Given the description of an element on the screen output the (x, y) to click on. 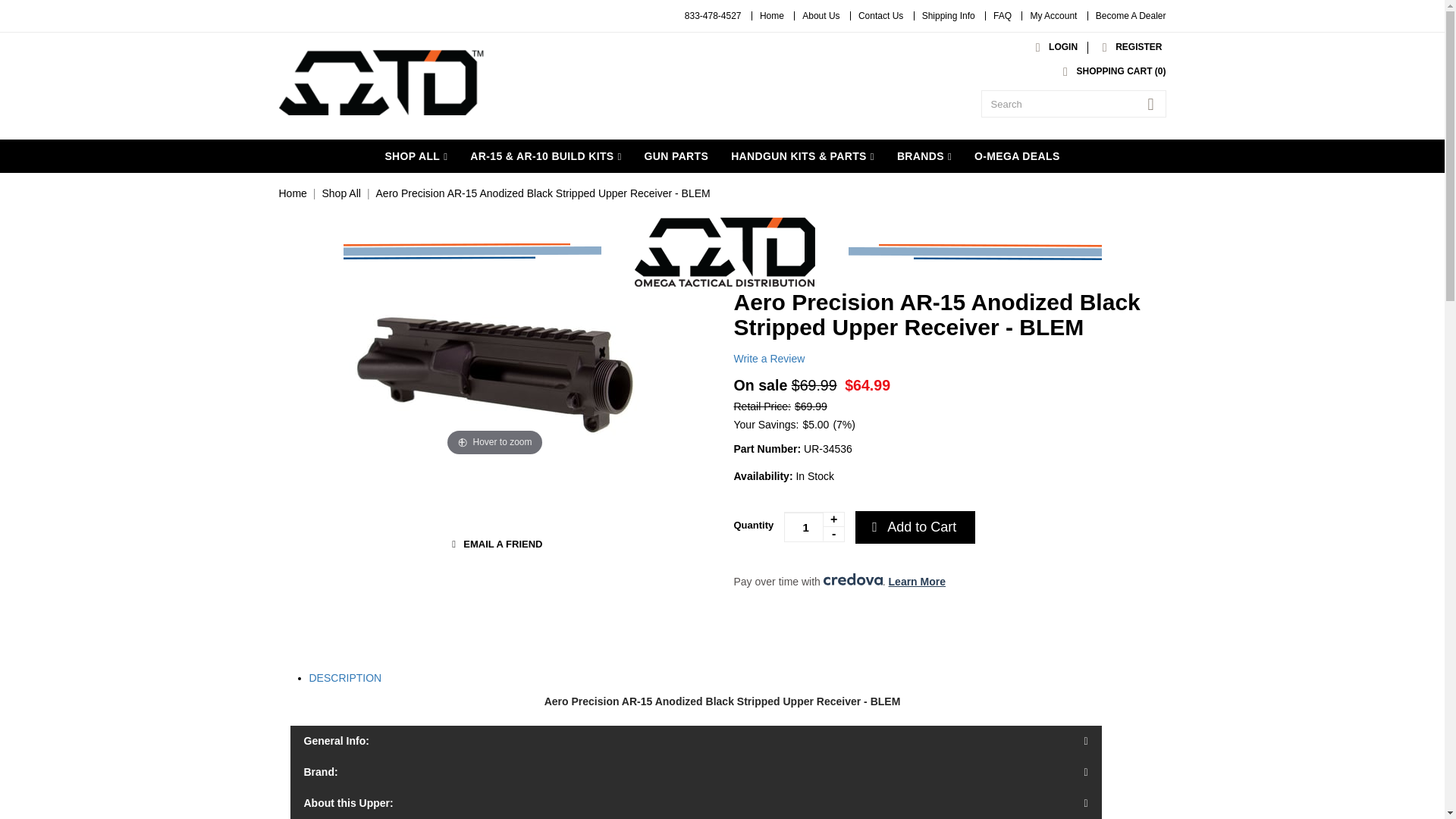
REGISTER (1128, 46)
GUN PARTS (676, 155)
1 (814, 526)
Shipping Info (948, 15)
LOGIN (1053, 46)
My Account (1053, 15)
About Us (821, 15)
SHOP ALL (415, 155)
FAQ (1001, 15)
Home (772, 15)
Become A Dealer (1131, 15)
Contact Us (880, 15)
833-478-4527 (712, 15)
